Given the description of an element on the screen output the (x, y) to click on. 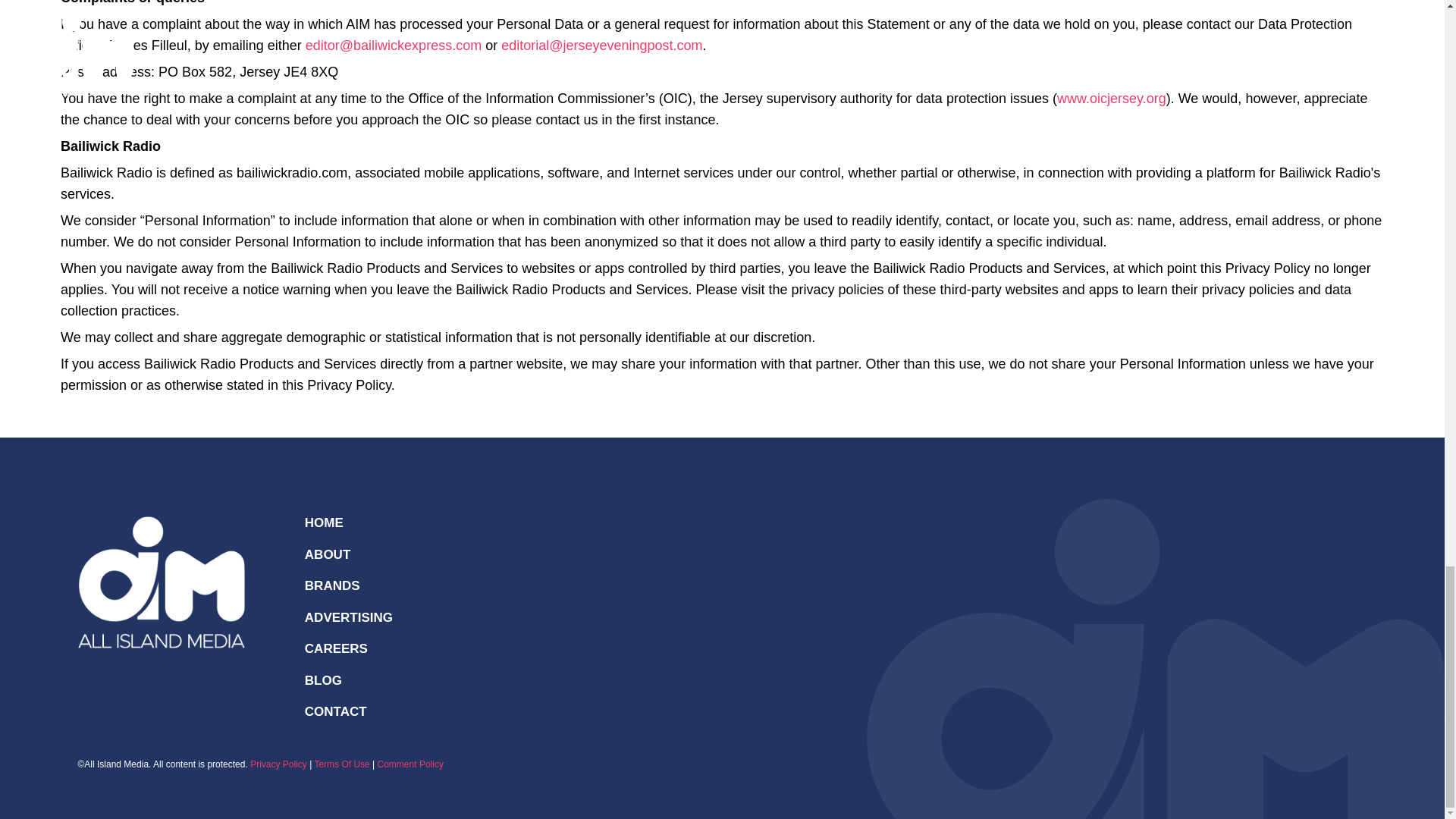
Comment Policy (410, 763)
ADVERTISING (348, 616)
CAREERS (336, 648)
HOME (323, 522)
BRANDS (331, 585)
Terms Of Use (341, 763)
ABOUT (327, 554)
BLOG (323, 680)
CONTACT (335, 711)
Privacy Policy (278, 763)
www.oicjersey.org (1111, 98)
